Given the description of an element on the screen output the (x, y) to click on. 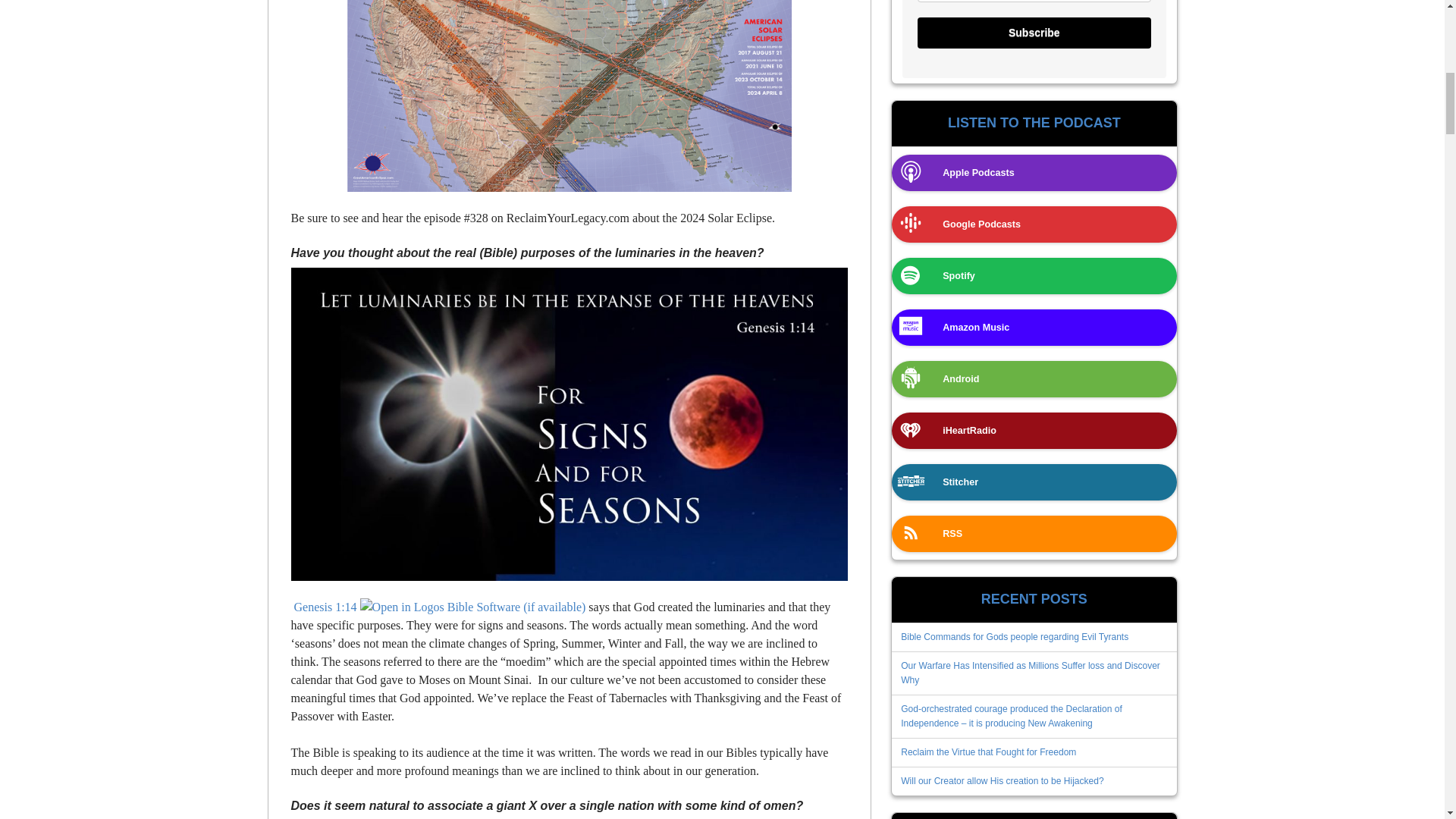
Genesis 1:14 (325, 606)
